Given the description of an element on the screen output the (x, y) to click on. 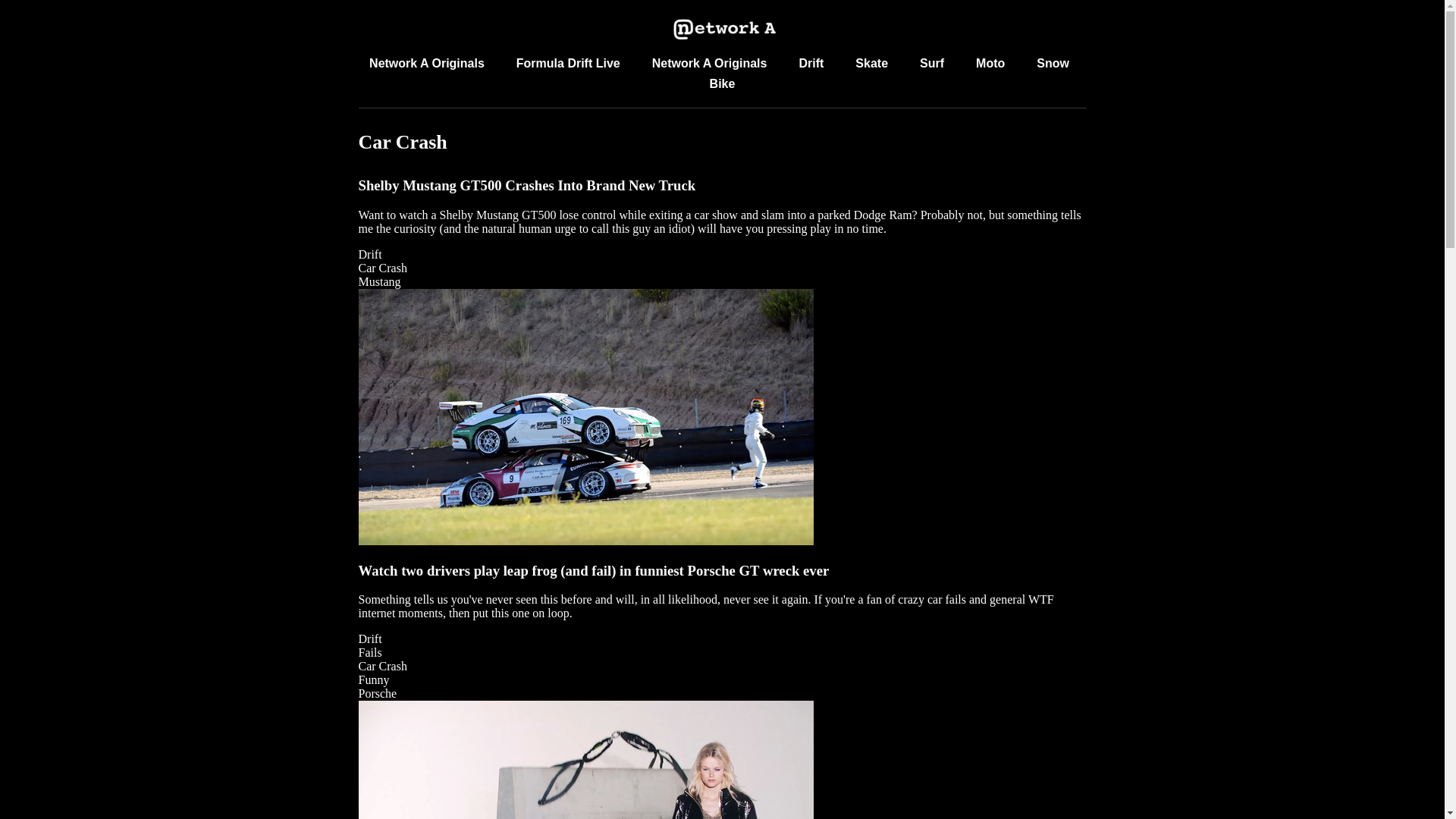
Network A logo (721, 29)
Network A Originals (709, 62)
Network A Originals (426, 62)
Car Crash (382, 267)
Drift (369, 254)
Snow (1052, 62)
Bike (722, 83)
Moto (989, 62)
Fails (369, 652)
Shelby Mustang GT500 Crashes Into Brand New Truck (526, 185)
Drift (369, 638)
Surf (931, 62)
Porsche (377, 693)
Formula Drift Live (568, 62)
Car Crash (382, 666)
